Given the description of an element on the screen output the (x, y) to click on. 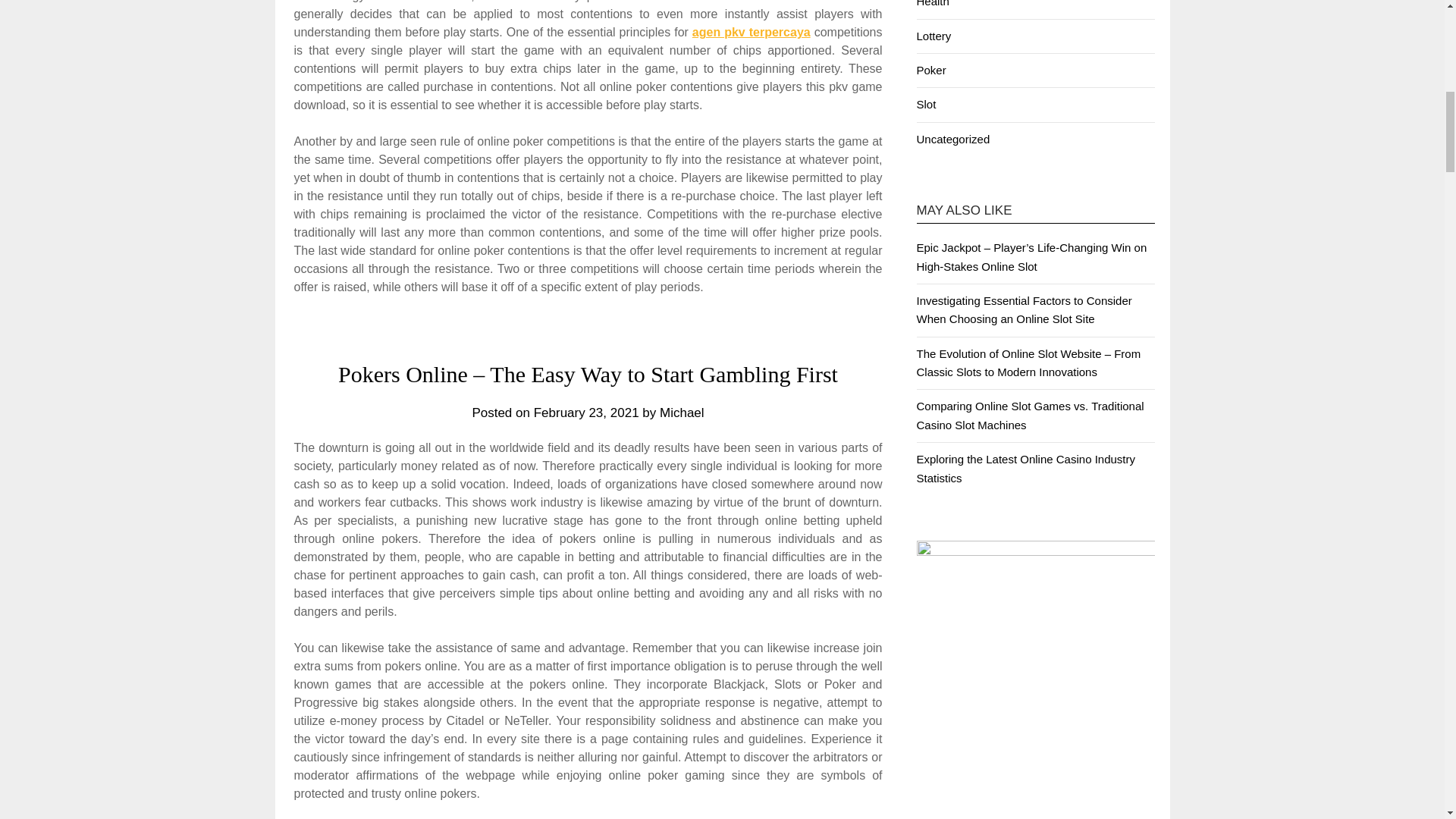
February 23, 2021 (586, 412)
agen pkv terpercaya (751, 31)
Michael (681, 412)
